Given the description of an element on the screen output the (x, y) to click on. 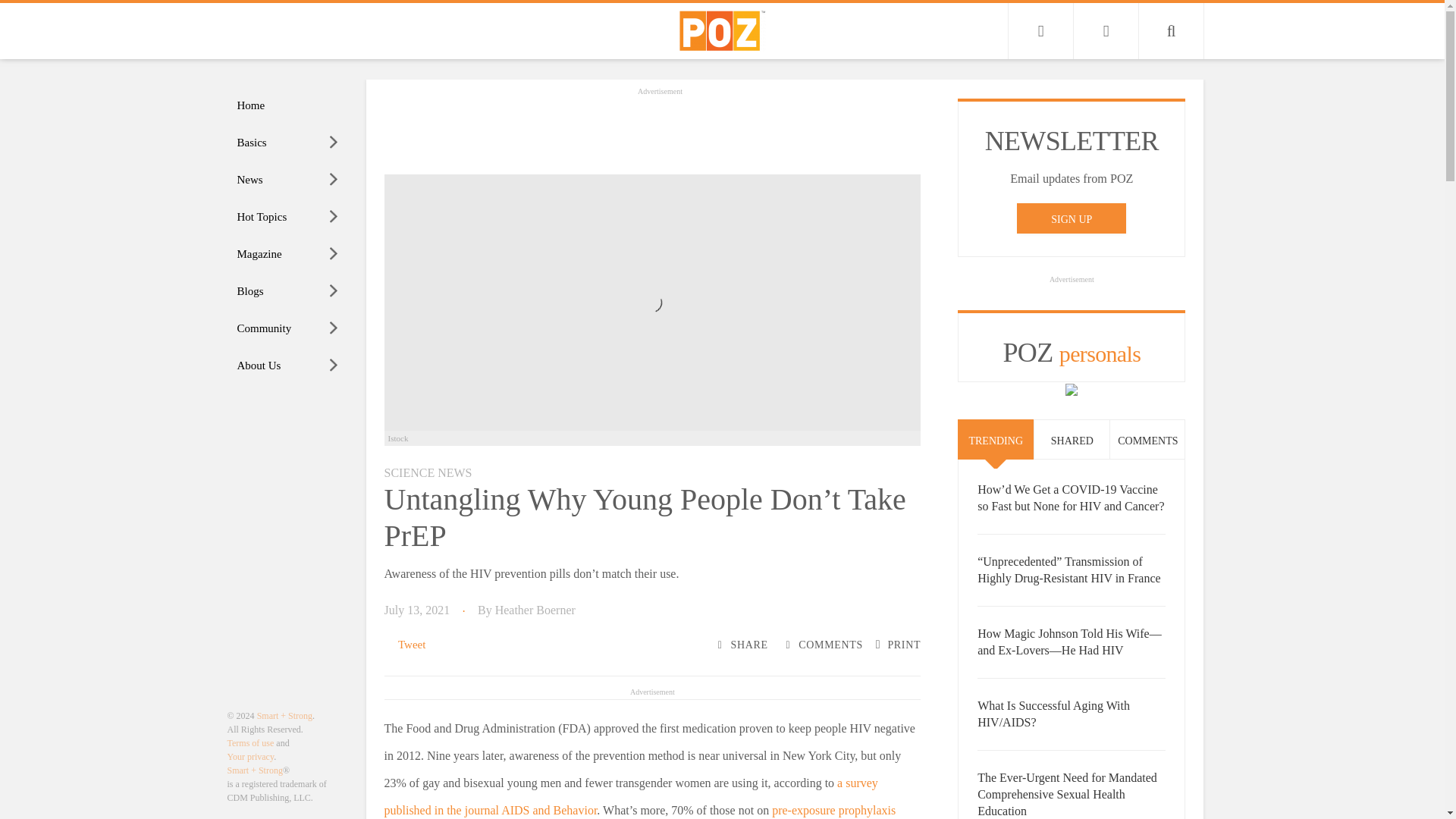
Home (288, 105)
Basics (288, 142)
News (288, 180)
